Given the description of an element on the screen output the (x, y) to click on. 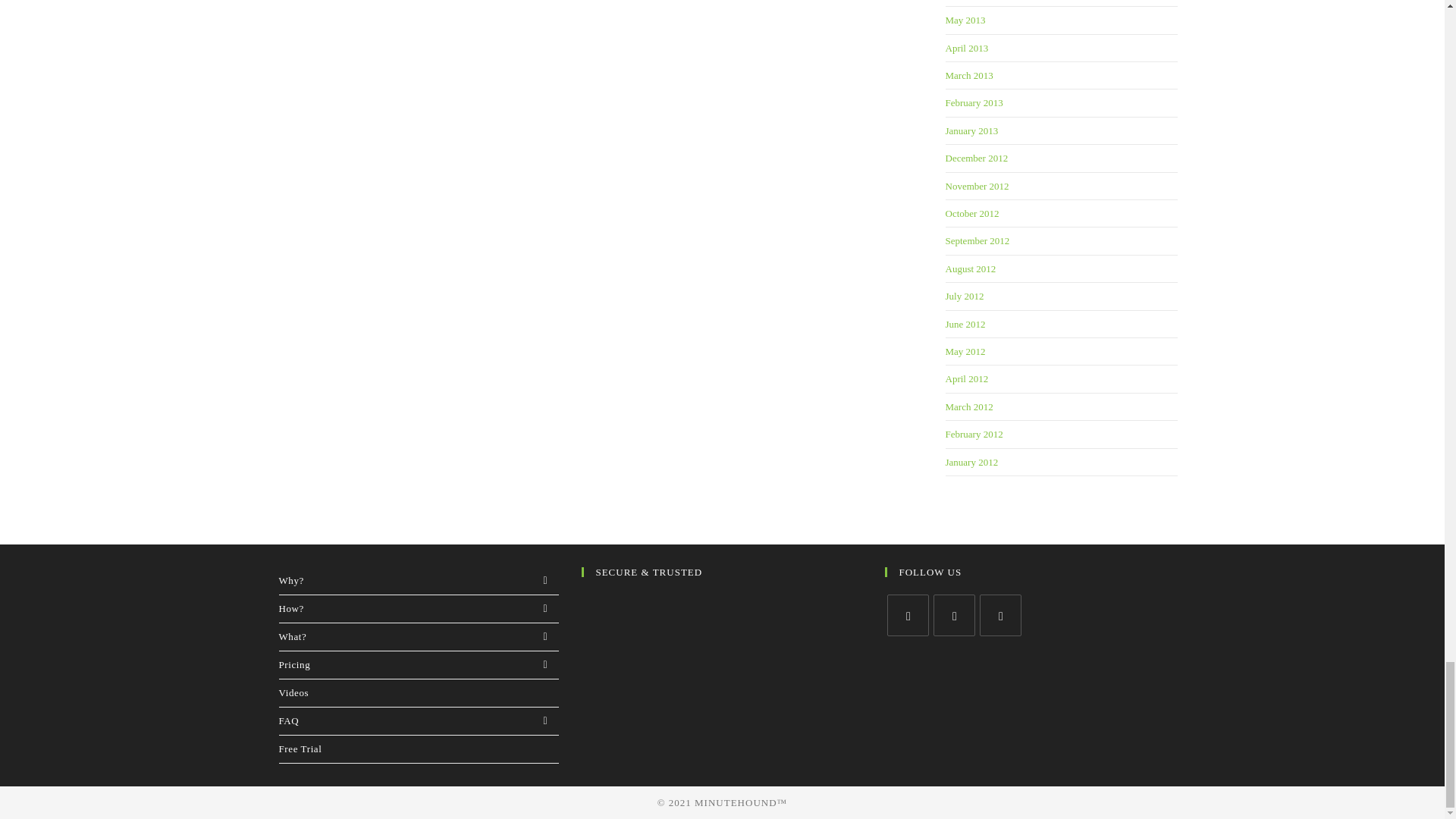
Facebook (954, 615)
Twitter (907, 615)
Youtube (1000, 615)
